Given the description of an element on the screen output the (x, y) to click on. 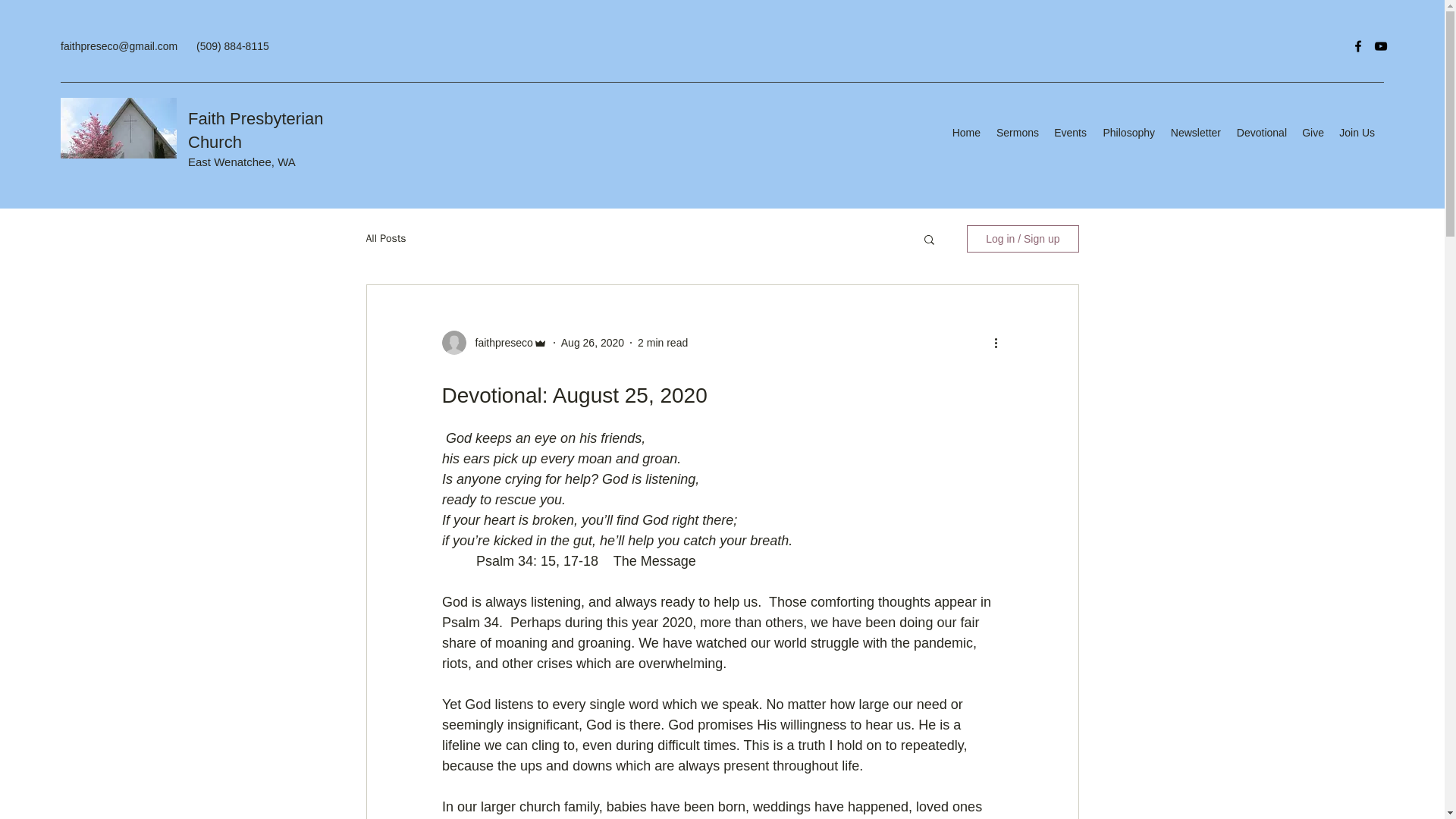
Devotional (1261, 132)
faithpreseco (498, 342)
Newsletter (1194, 132)
Join Us (1356, 132)
Sermons (1017, 132)
Aug 26, 2020 (592, 342)
All Posts (385, 238)
Events (1070, 132)
Home (965, 132)
Give (1313, 132)
Philosophy (1127, 132)
Faith Presbyterian Church (255, 129)
2 min read (662, 342)
